Given the description of an element on the screen output the (x, y) to click on. 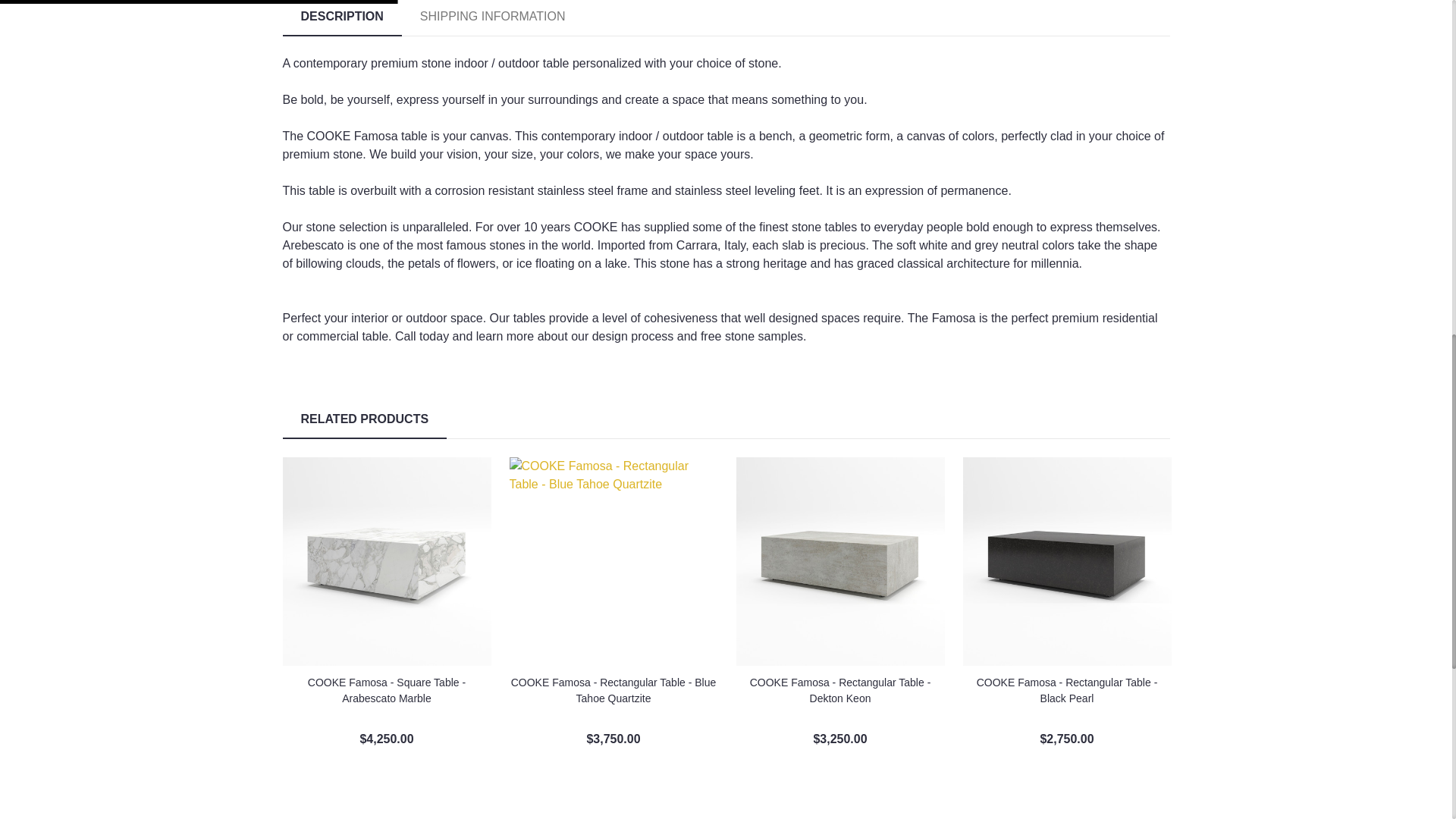
COOKE Famosa - Rectangular Table - Dekton Keon (839, 561)
COOKE Famosa - Rectangular Table - Black Pearl (1067, 561)
COOKE Famosa - Square Table - Arabescato Marble (386, 561)
COOKE Famosa - Rectangular Table - Blue Tahoe Quartzite (613, 561)
